Given the description of an element on the screen output the (x, y) to click on. 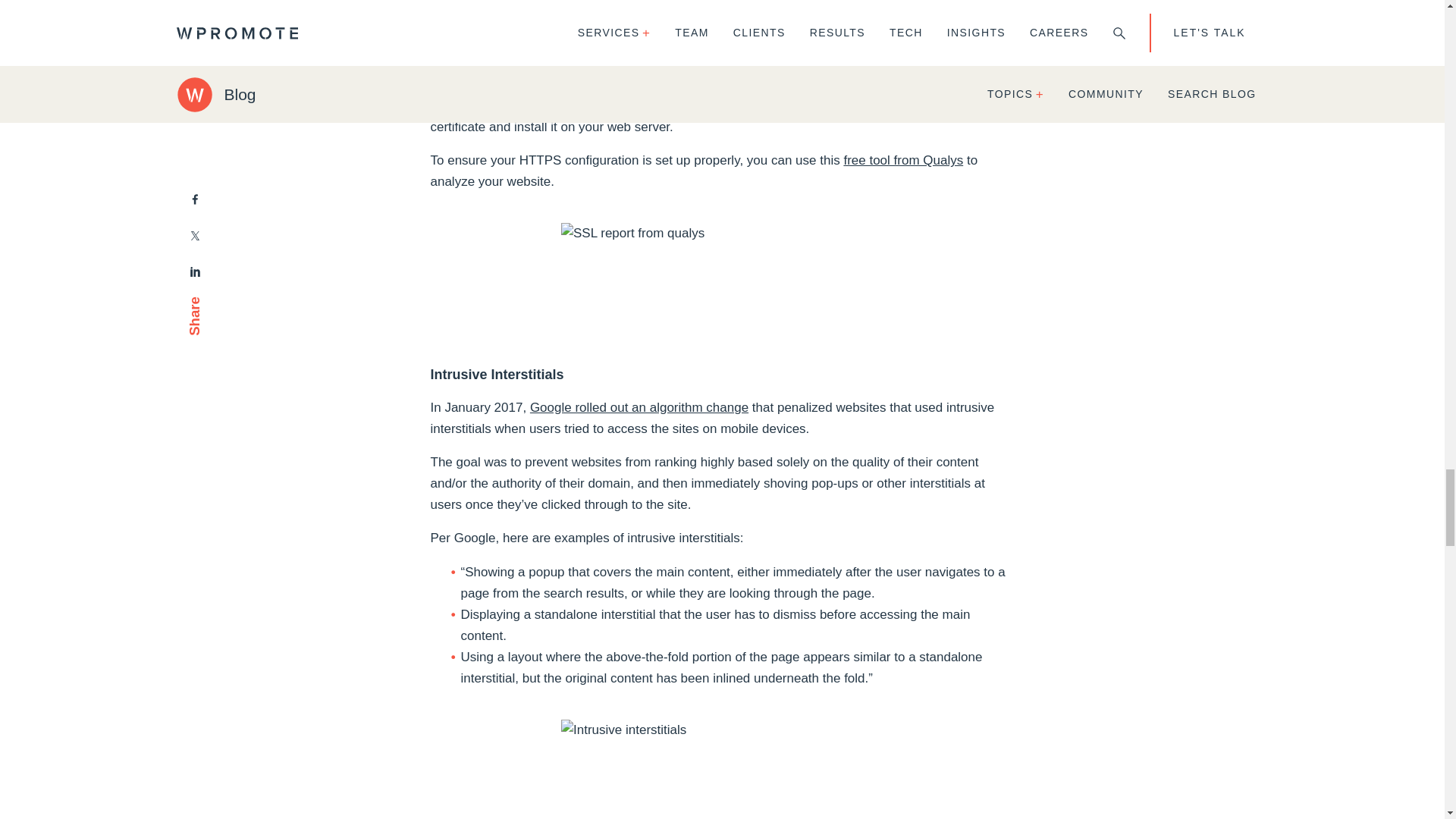
Google rolled out an algorithm change (638, 407)
free tool from Qualys (902, 160)
small ranking factor back in 2014 (707, 18)
